Given the description of an element on the screen output the (x, y) to click on. 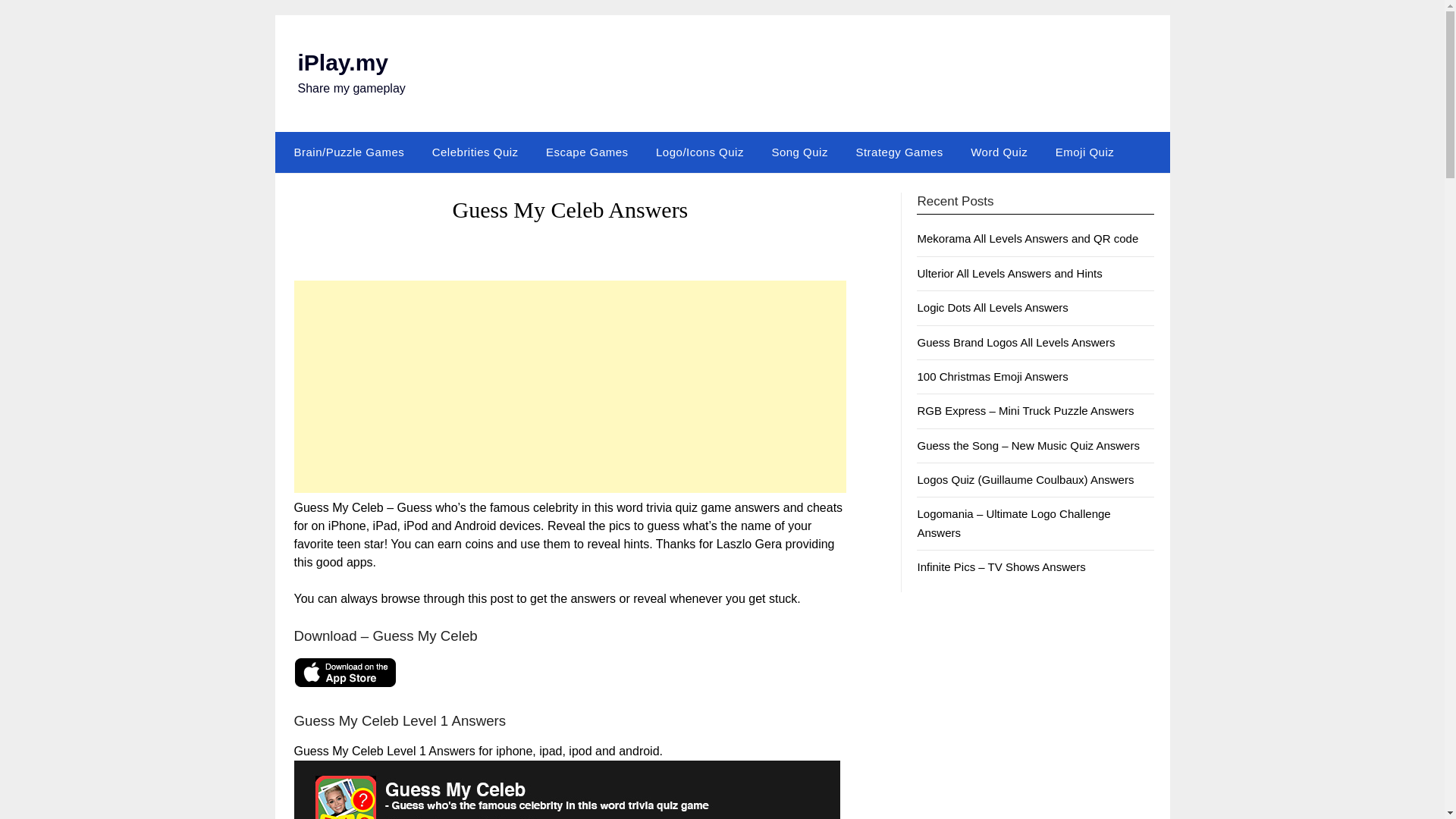
Celebrities Quiz (475, 151)
Emoji Quiz (1084, 151)
Escape Games (587, 151)
iPlay.my (342, 62)
Word Quiz (998, 151)
Strategy Games (899, 151)
Song Quiz (799, 151)
Advertisement (570, 386)
